Given the description of an element on the screen output the (x, y) to click on. 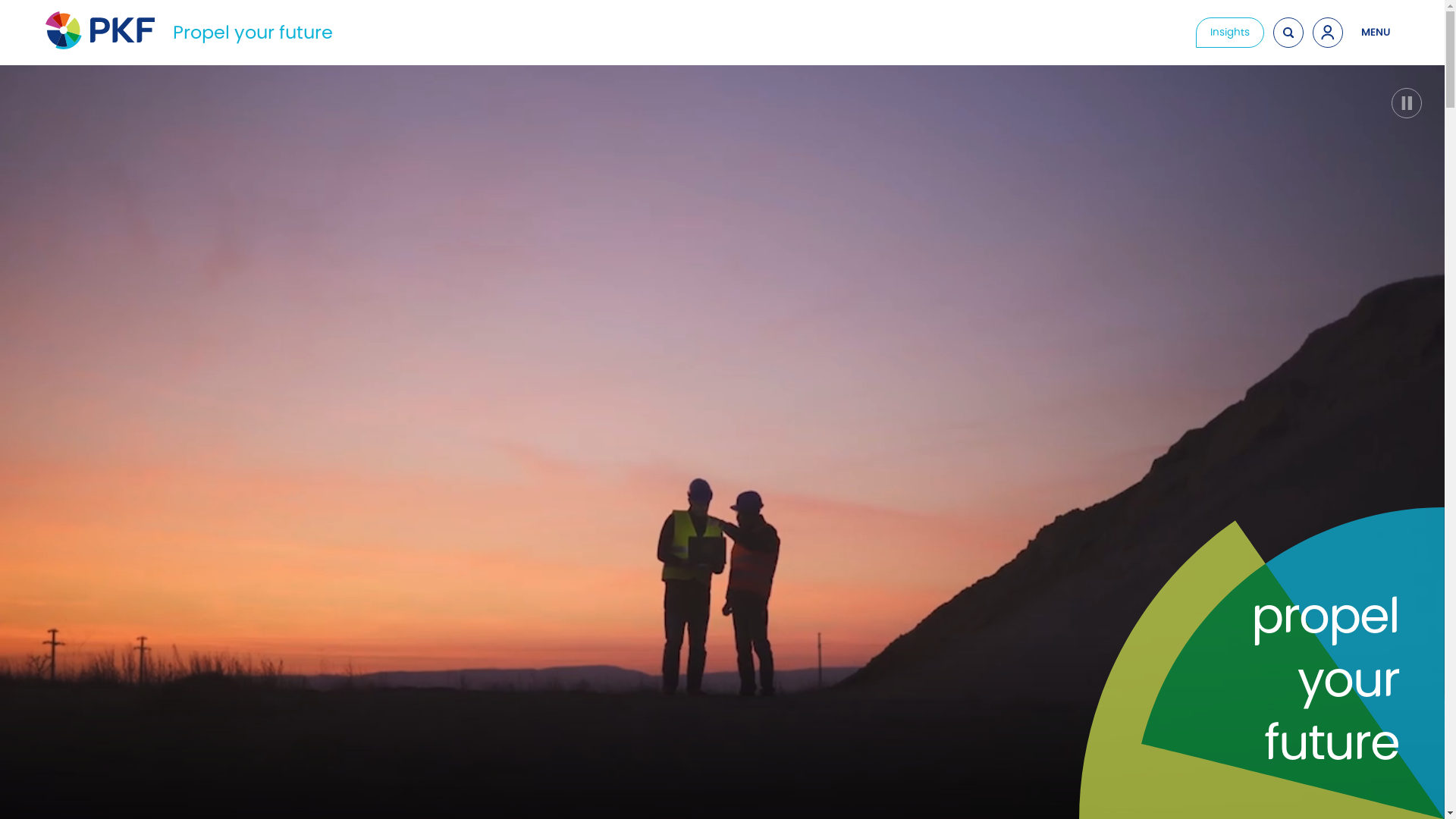
Access Client Portal Element type: hover (1327, 32)
Insights Element type: text (1229, 32)
Propel your future Element type: text (252, 31)
OPEN
MENU Element type: text (1375, 32)
Pause video Element type: text (1406, 102)
Search Element type: hover (1288, 32)
